Given the description of an element on the screen output the (x, y) to click on. 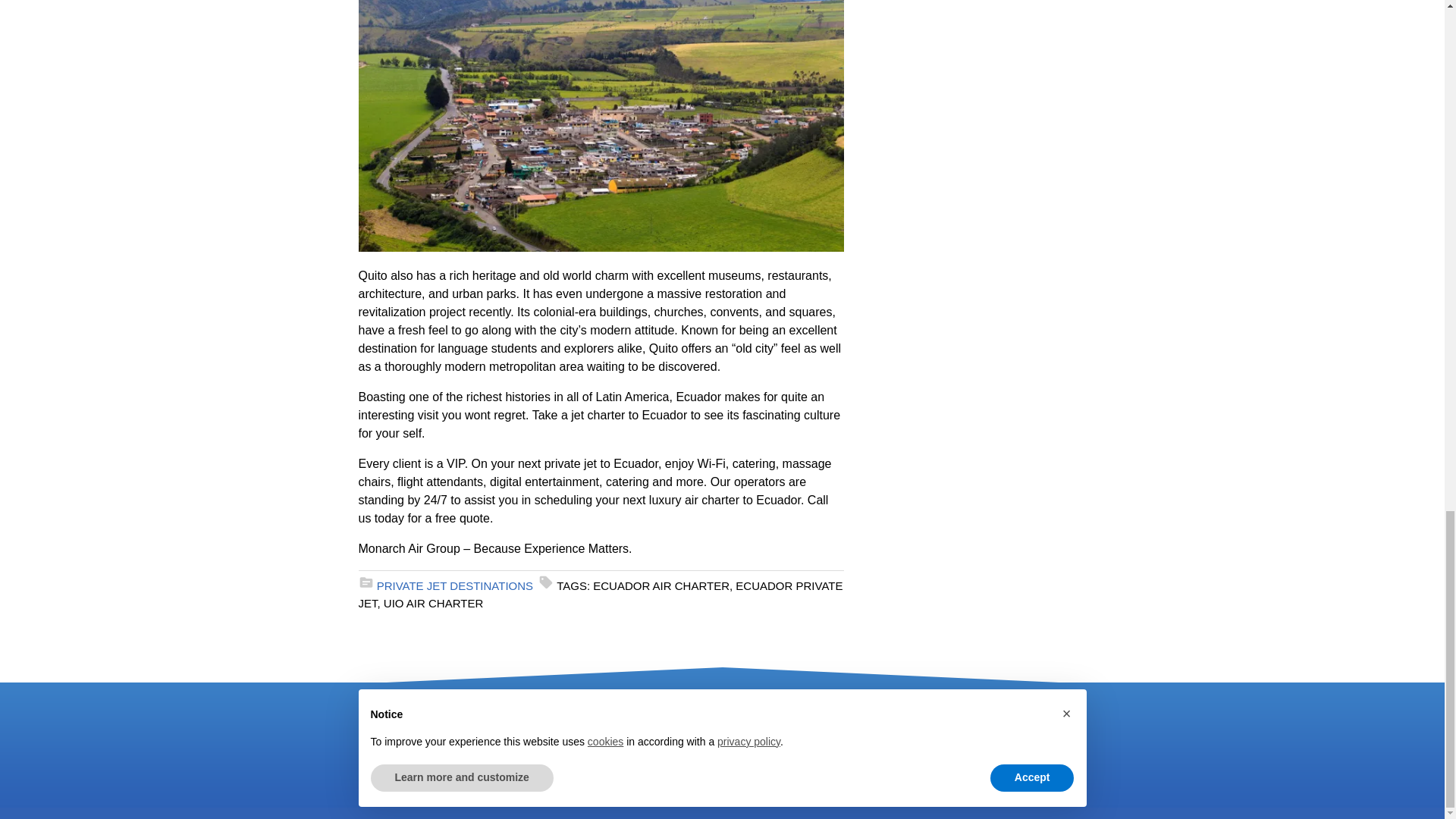
Aircraft Management (562, 773)
About us (420, 711)
Air Cargo (546, 737)
Privacy Policy (435, 764)
Air Cargo Service (546, 737)
Air Charter (550, 711)
PRIVATE JET DESTINATIONS (454, 585)
Contact us (426, 737)
Aircraft Management Service (562, 773)
Reviews for Monarch Air Group (670, 791)
Air Charter Service (550, 711)
